Given the description of an element on the screen output the (x, y) to click on. 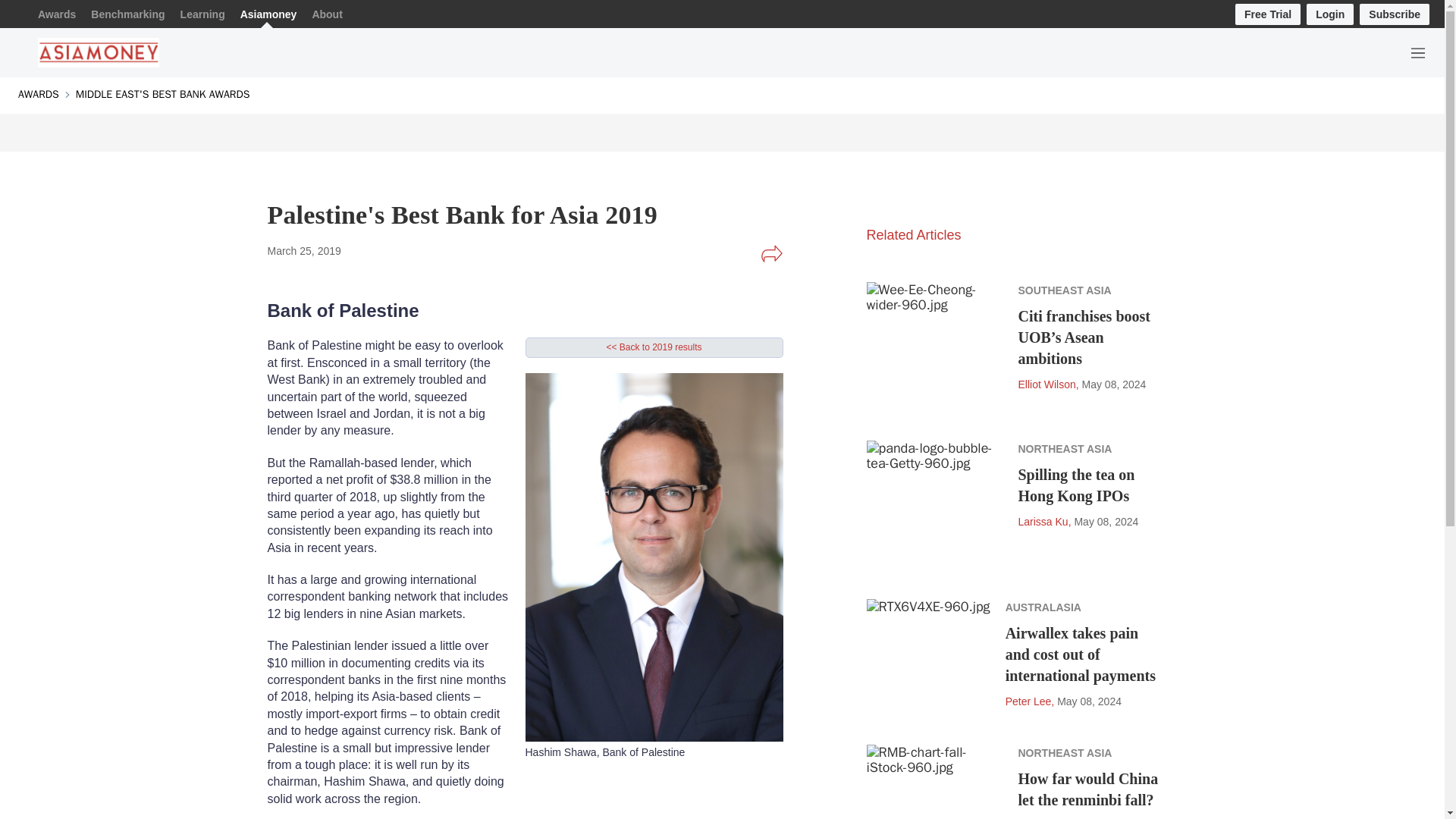
Login (1329, 13)
Learning (202, 13)
Asiamoney (268, 13)
Free Trial (1267, 13)
About (326, 13)
Share (771, 253)
Benchmarking (127, 13)
Subscribe (1394, 13)
Awards (56, 13)
